Given the description of an element on the screen output the (x, y) to click on. 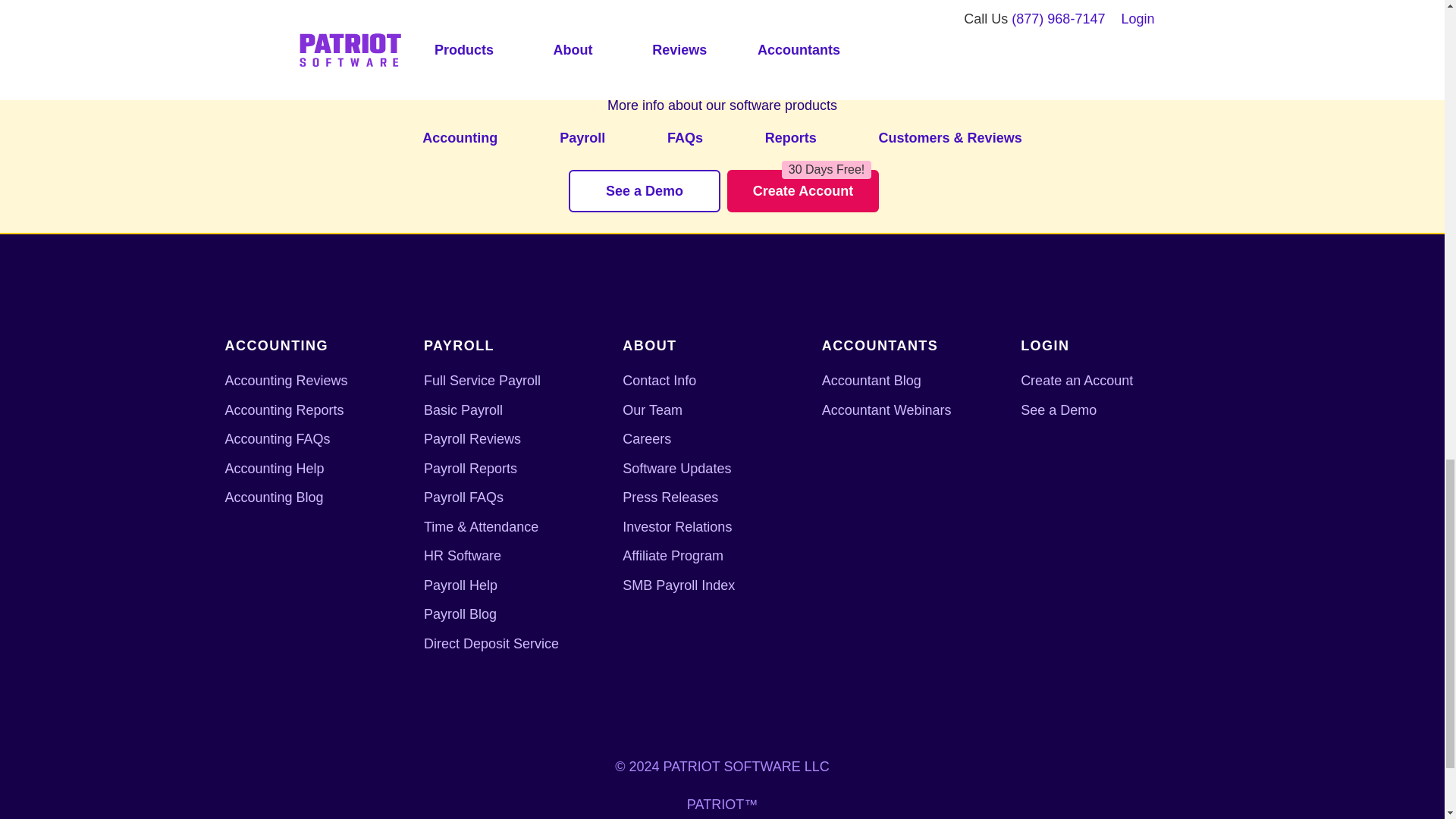
Visit our YouTube Channel (777, 717)
Visit our TikTok (833, 717)
Visit our LinkedIn (555, 717)
Visit our Pinterest (888, 717)
Visit our Instagram (721, 717)
Visit our Facebook (610, 717)
Visit our X (665, 717)
